Given the description of an element on the screen output the (x, y) to click on. 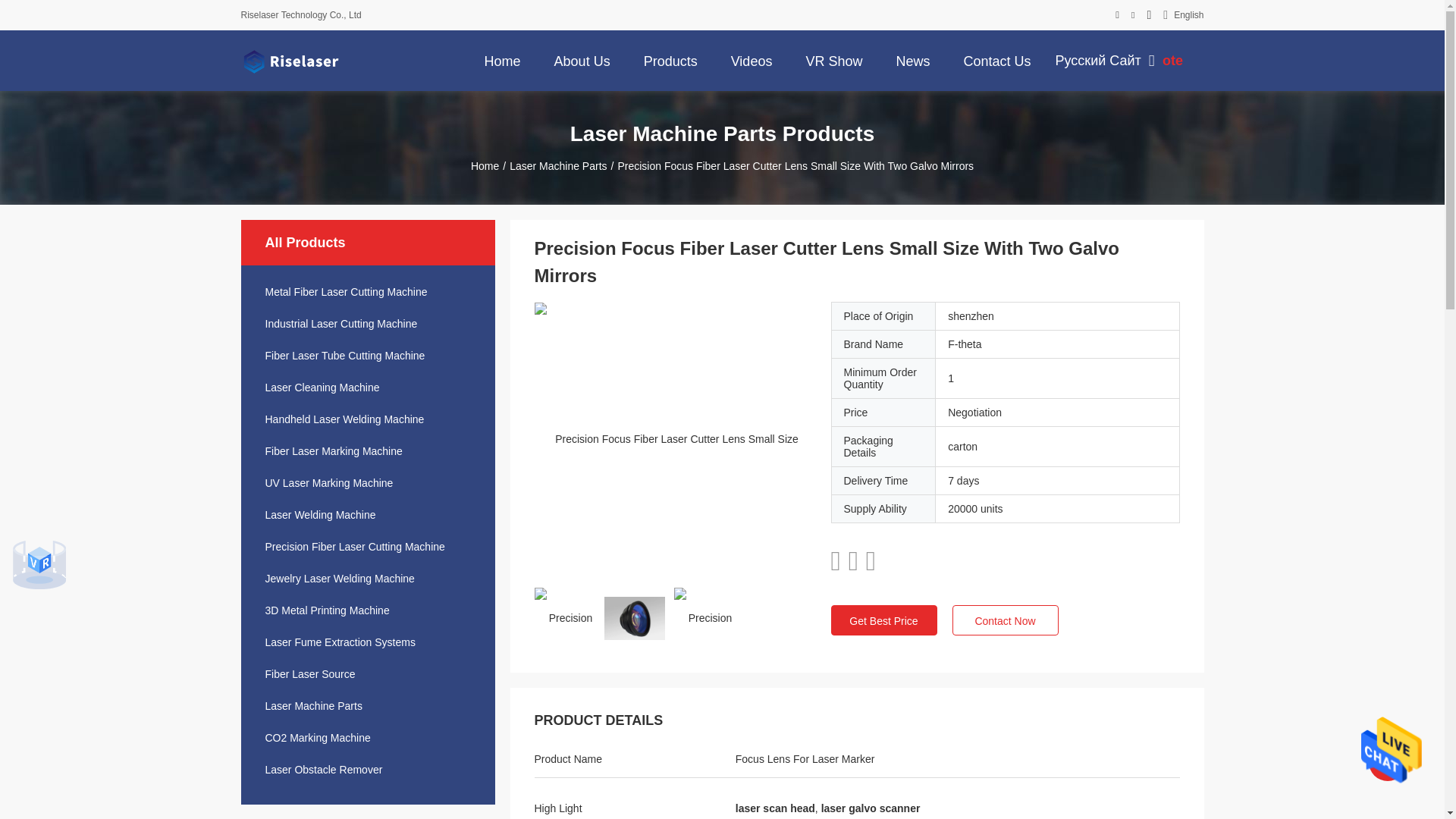
Products (670, 60)
Home (502, 60)
About Us (582, 60)
